Given the description of an element on the screen output the (x, y) to click on. 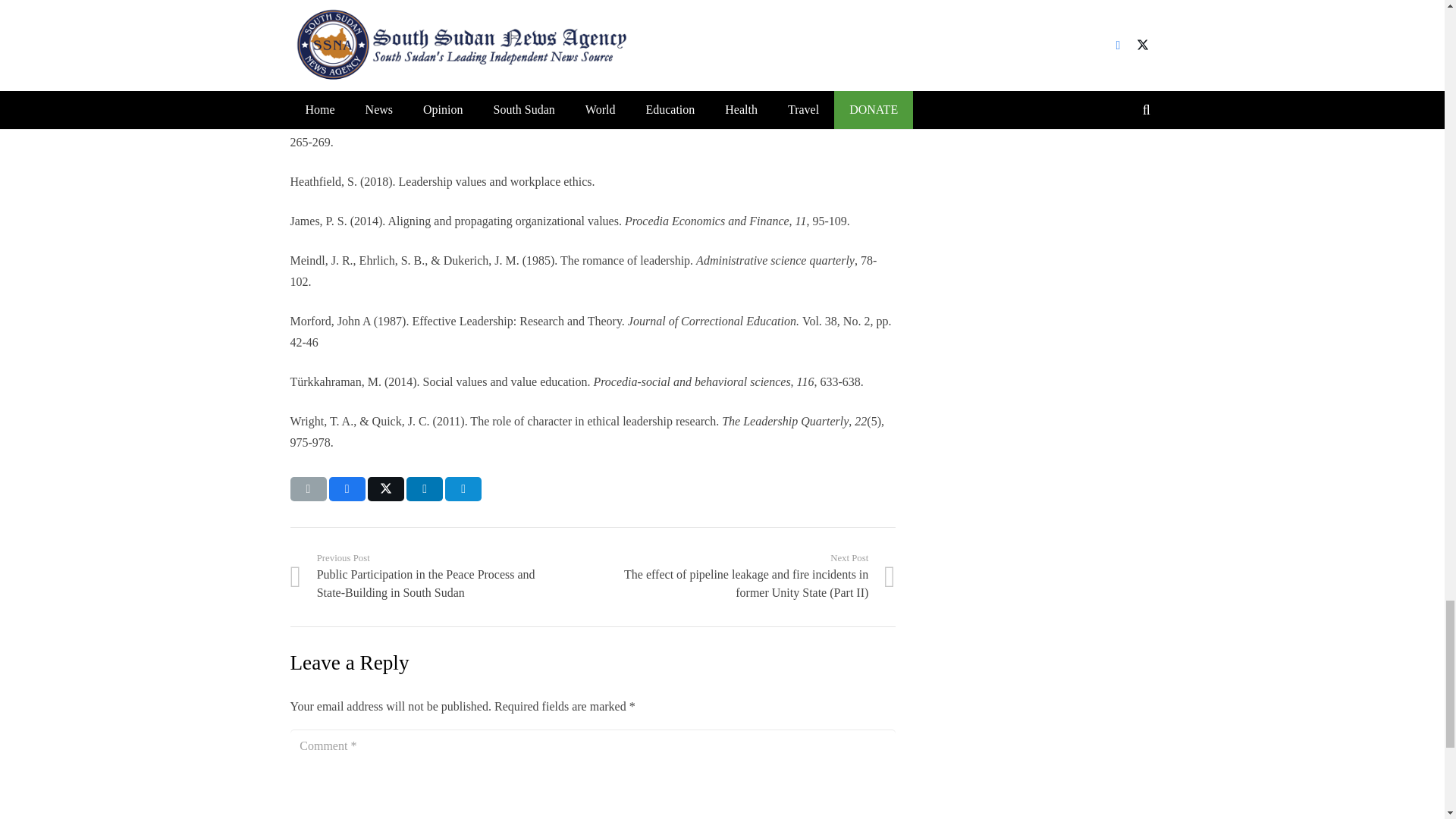
Share this (347, 488)
Share this (463, 488)
Email this (307, 488)
Tweet this (386, 488)
Share this (424, 488)
